Given the description of an element on the screen output the (x, y) to click on. 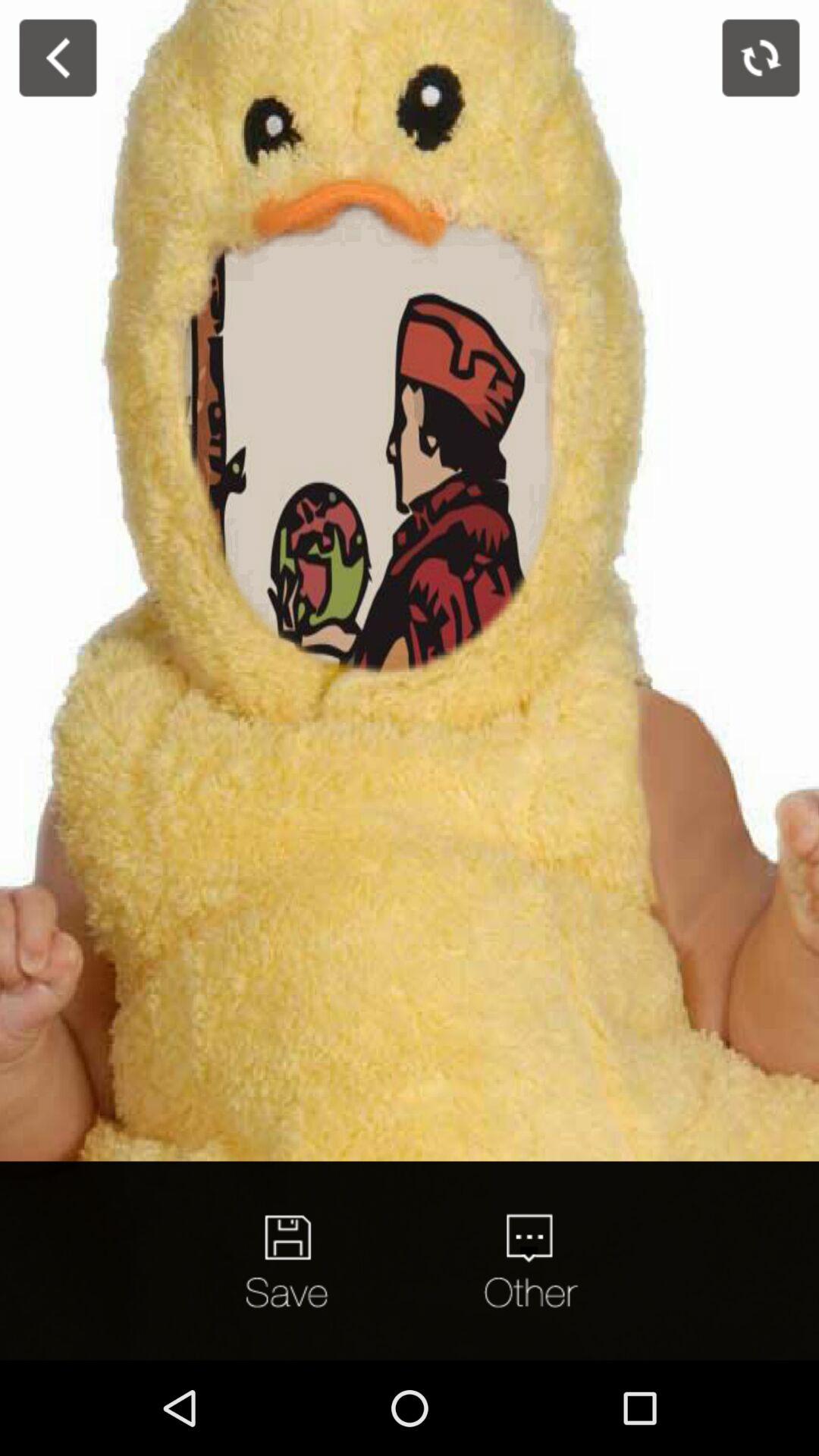
save option (289, 1260)
